Given the description of an element on the screen output the (x, y) to click on. 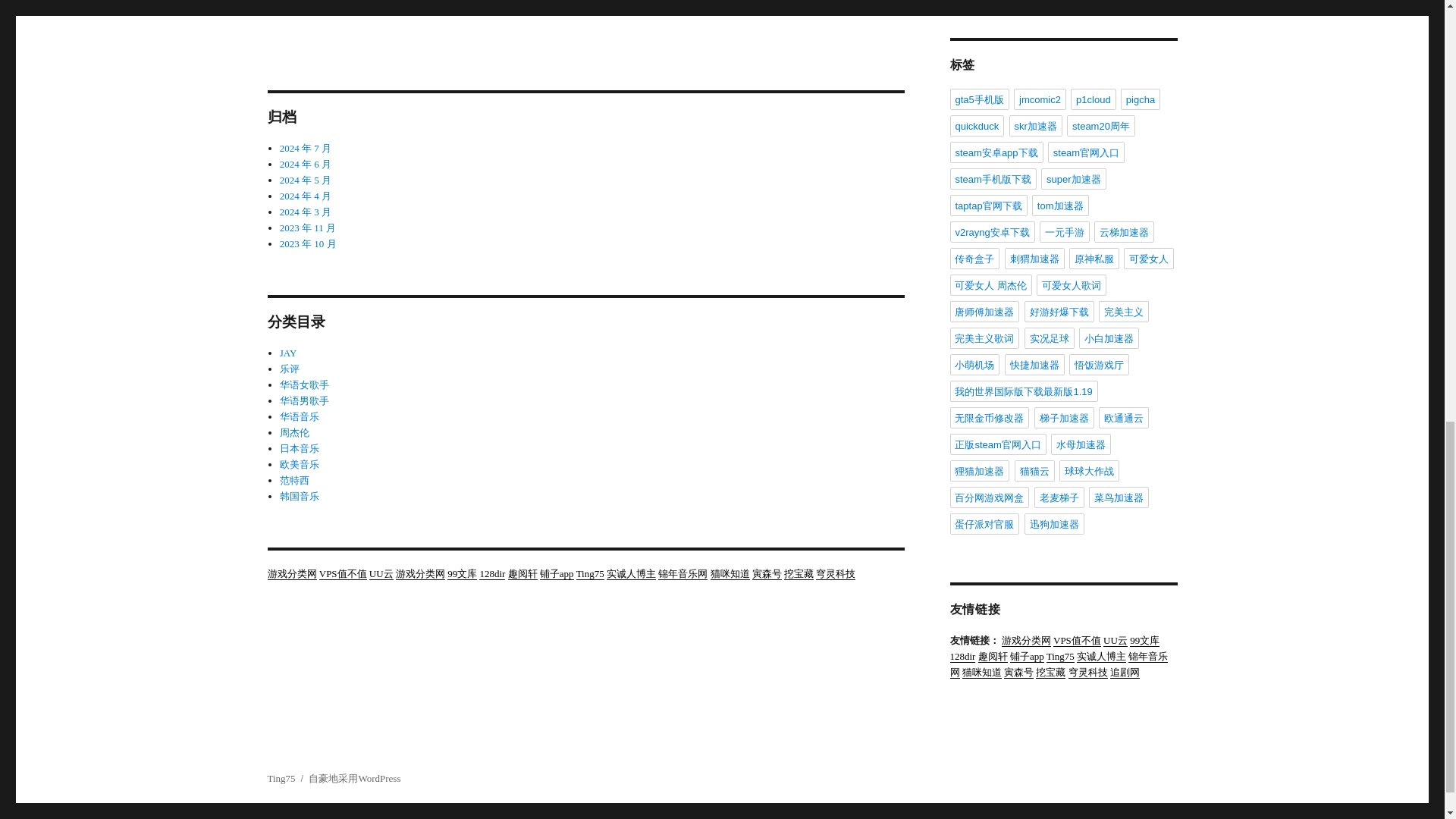
128dir (492, 573)
Ting75 (590, 573)
JAY (288, 352)
